Given the description of an element on the screen output the (x, y) to click on. 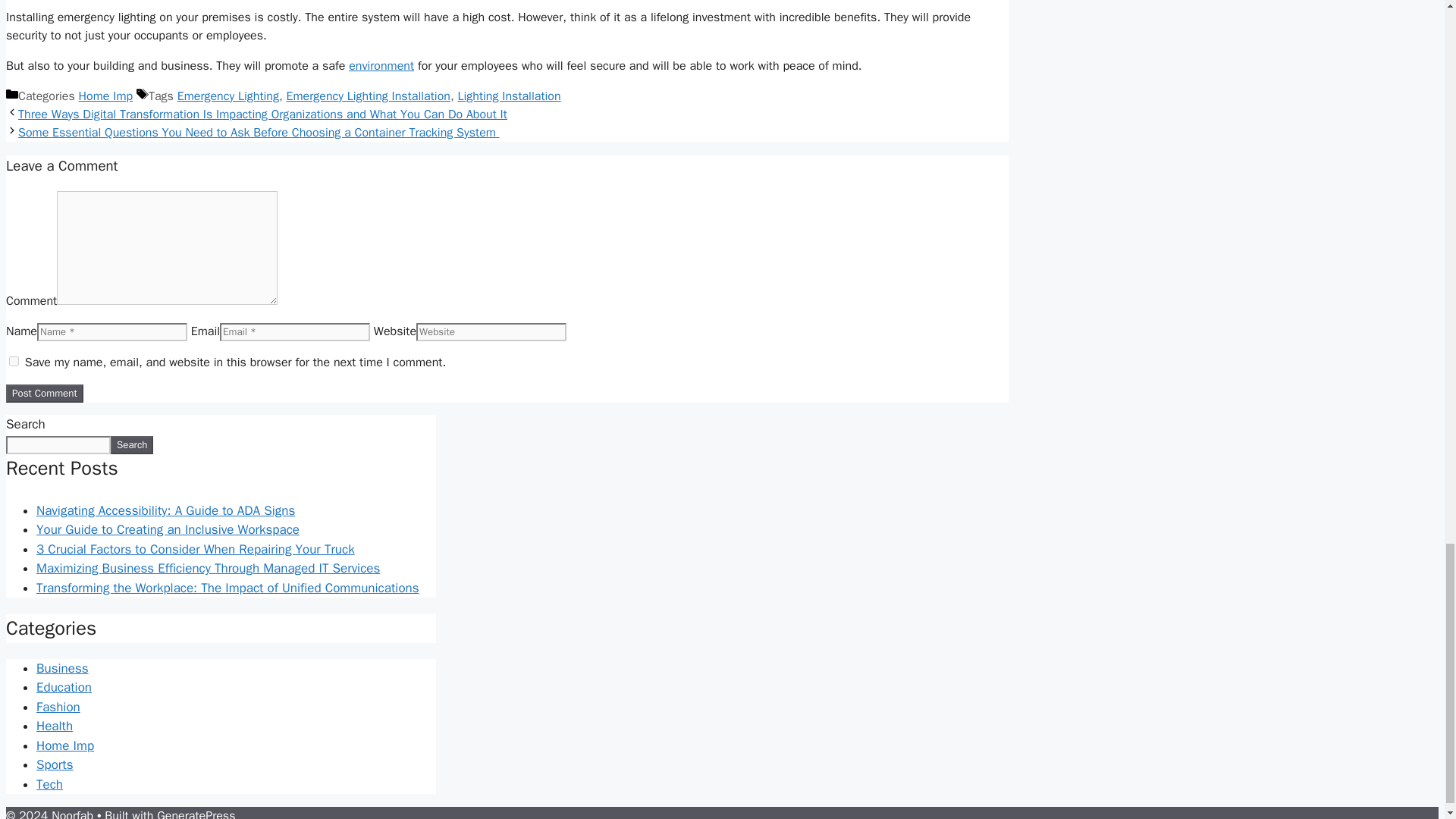
Health (54, 725)
environment (381, 65)
Home Imp (105, 96)
Tech (49, 784)
Navigating Accessibility: A Guide to ADA Signs (165, 510)
Emergency Lighting Installation (367, 96)
Search (131, 444)
Home Imp (65, 745)
Sports (55, 764)
